Given the description of an element on the screen output the (x, y) to click on. 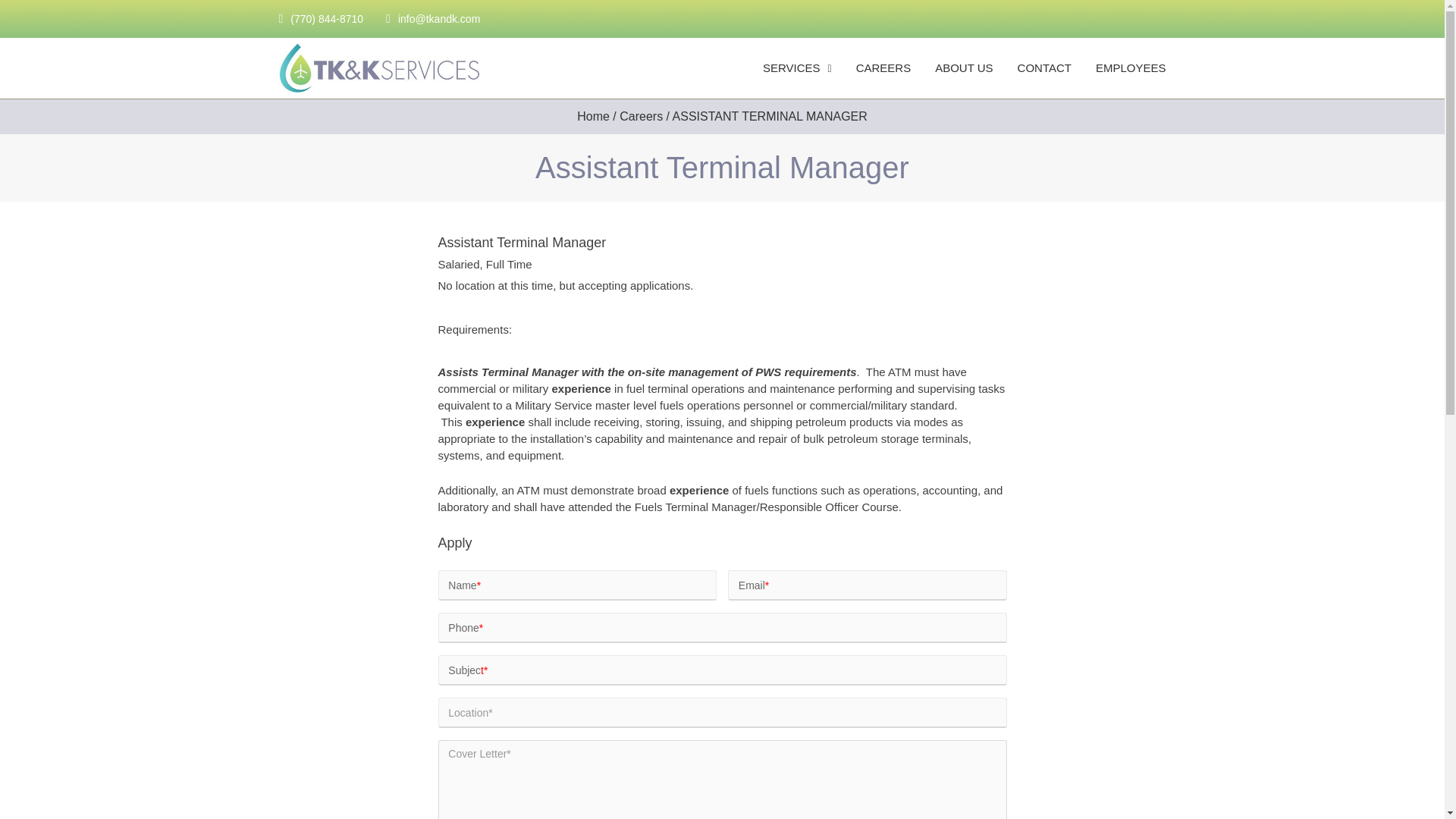
EMPLOYEES (1131, 67)
Careers (641, 115)
SERVICES (796, 67)
Home (593, 115)
ABOUT US (963, 67)
CAREERS (883, 67)
